Given the description of an element on the screen output the (x, y) to click on. 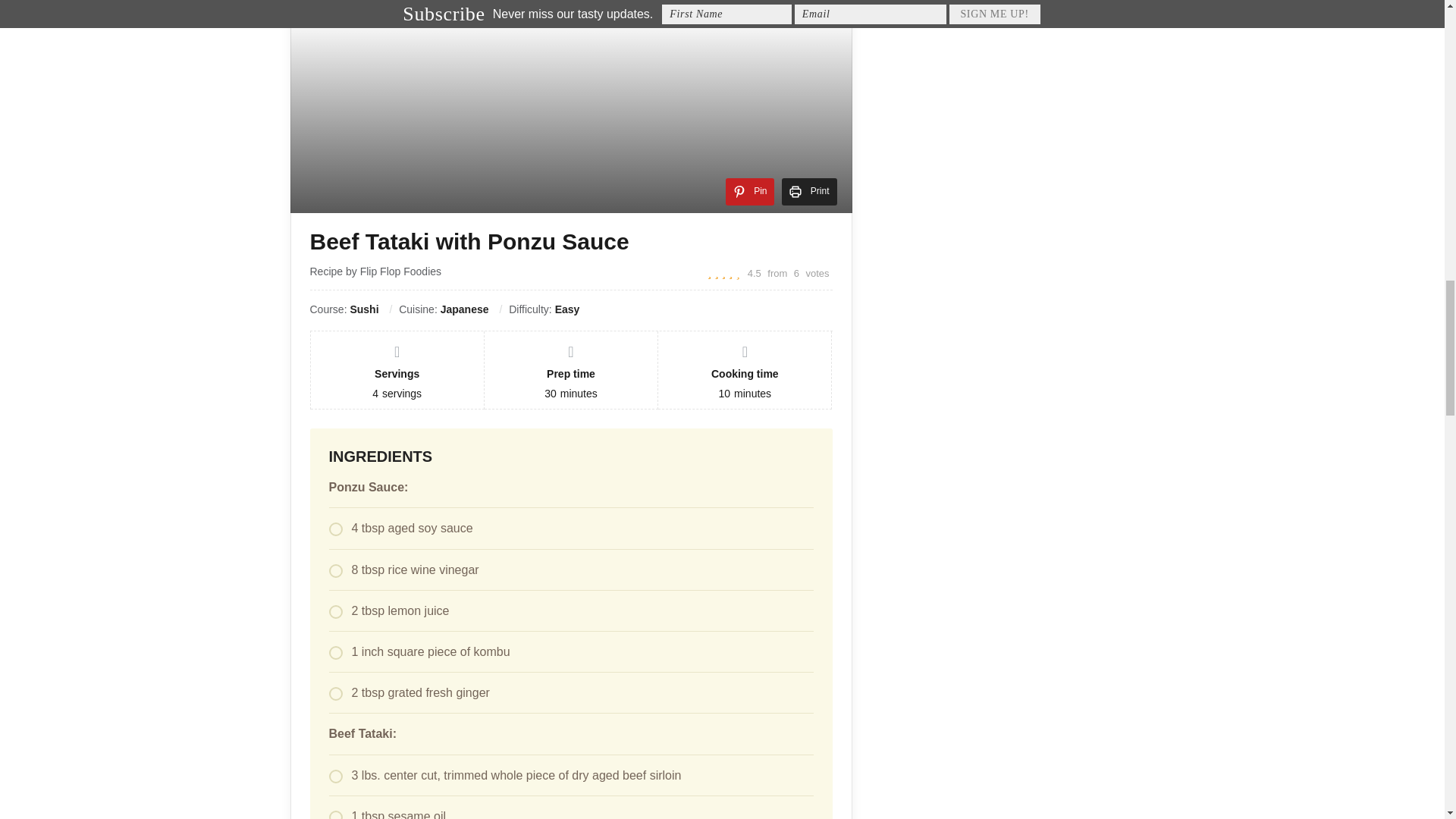
Print directions (808, 191)
